Given the description of an element on the screen output the (x, y) to click on. 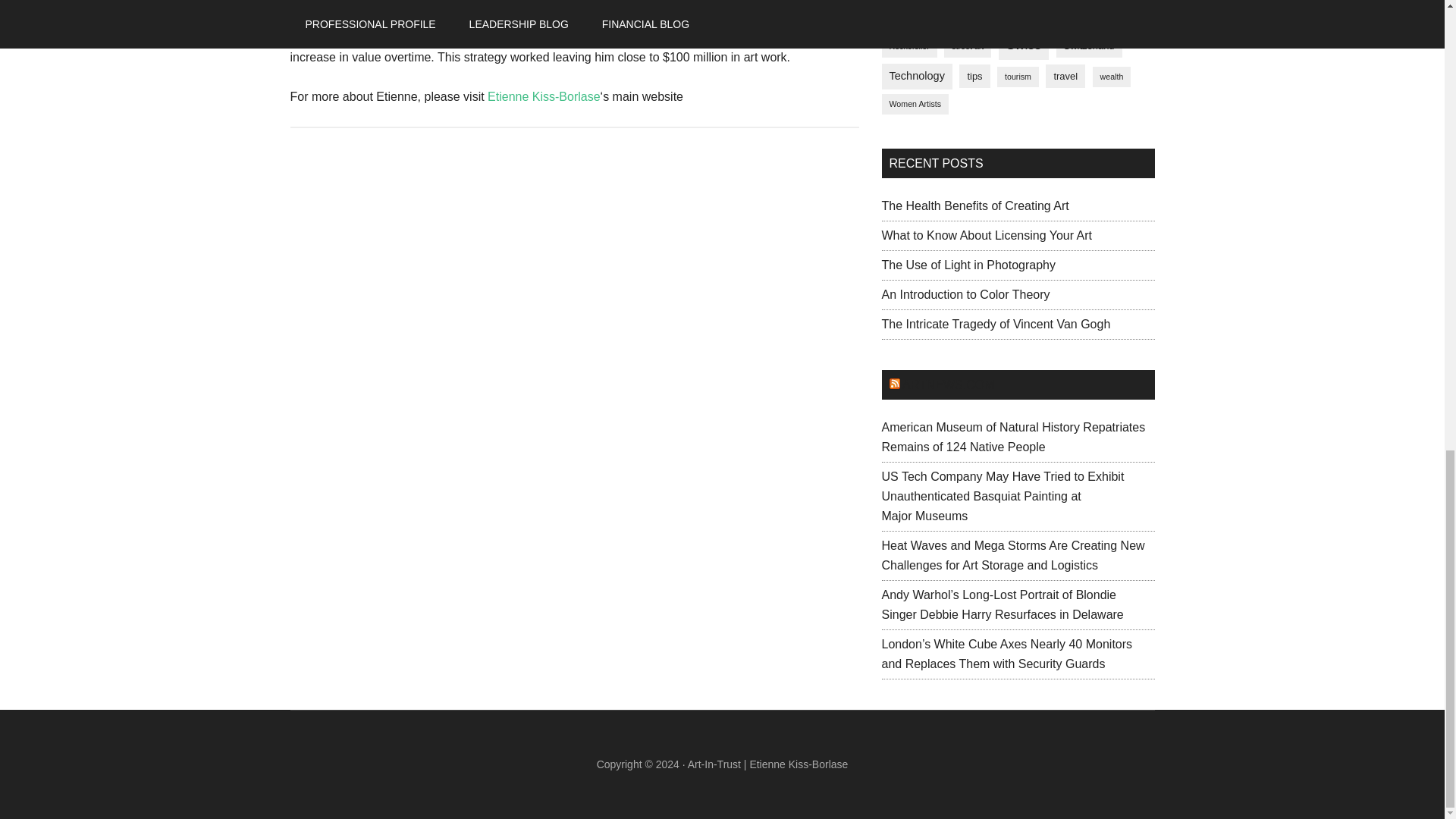
Etienne Kiss-Borlase (543, 96)
